Given the description of an element on the screen output the (x, y) to click on. 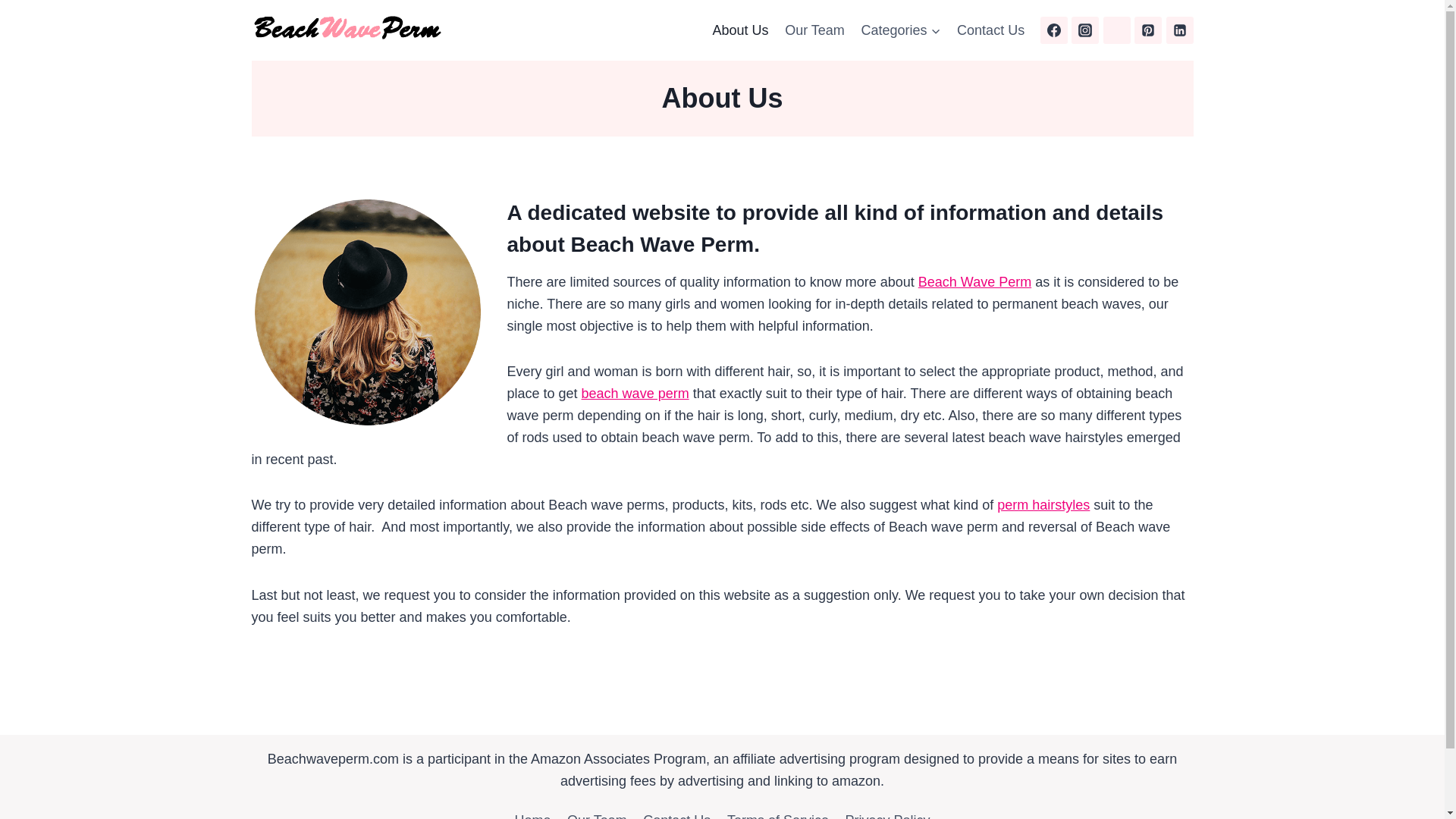
beach wave perm (634, 393)
Our Team (813, 30)
Contact Us (676, 812)
Home (532, 812)
perm rod hair styles (1043, 504)
Privacy Policy (888, 812)
Beach Wave Perms - A Complete Guide (634, 393)
Categories (901, 30)
Our Team (596, 812)
Terms of Service (778, 812)
